Given the description of an element on the screen output the (x, y) to click on. 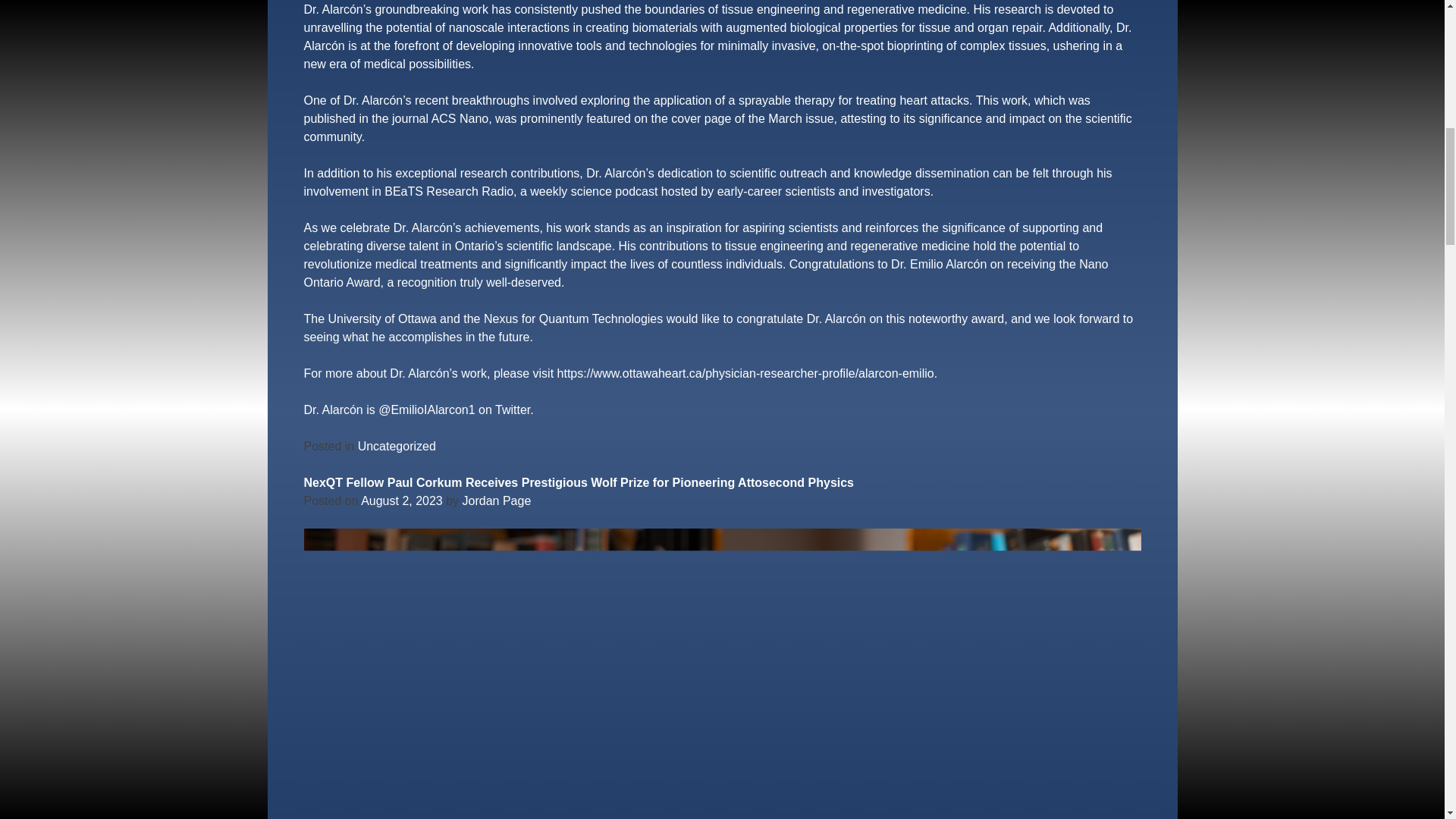
Jordan Page (497, 500)
Uncategorized (396, 445)
August 2, 2023 (401, 500)
